Given the description of an element on the screen output the (x, y) to click on. 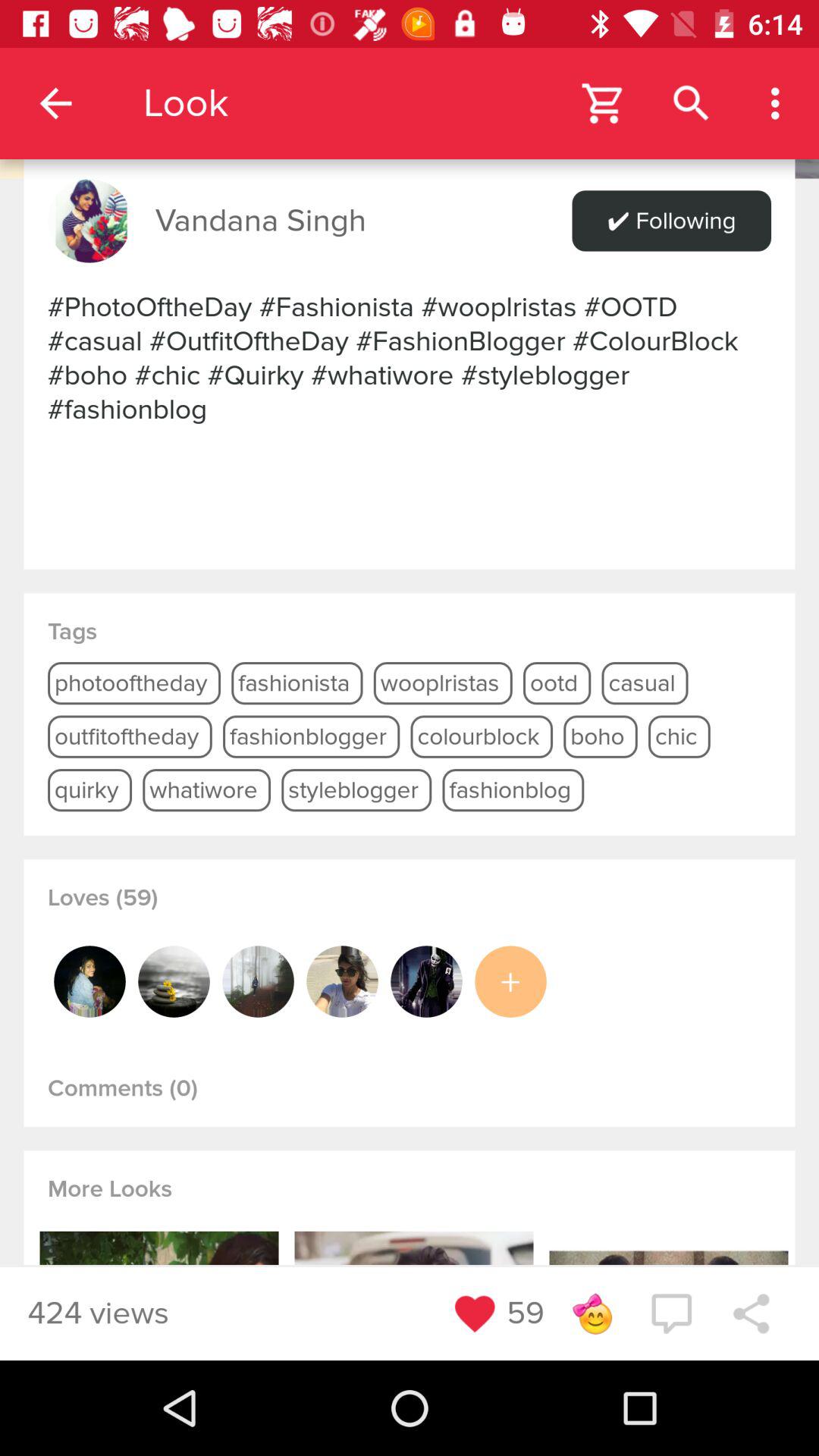
choose item next to look app (55, 103)
